Given the description of an element on the screen output the (x, y) to click on. 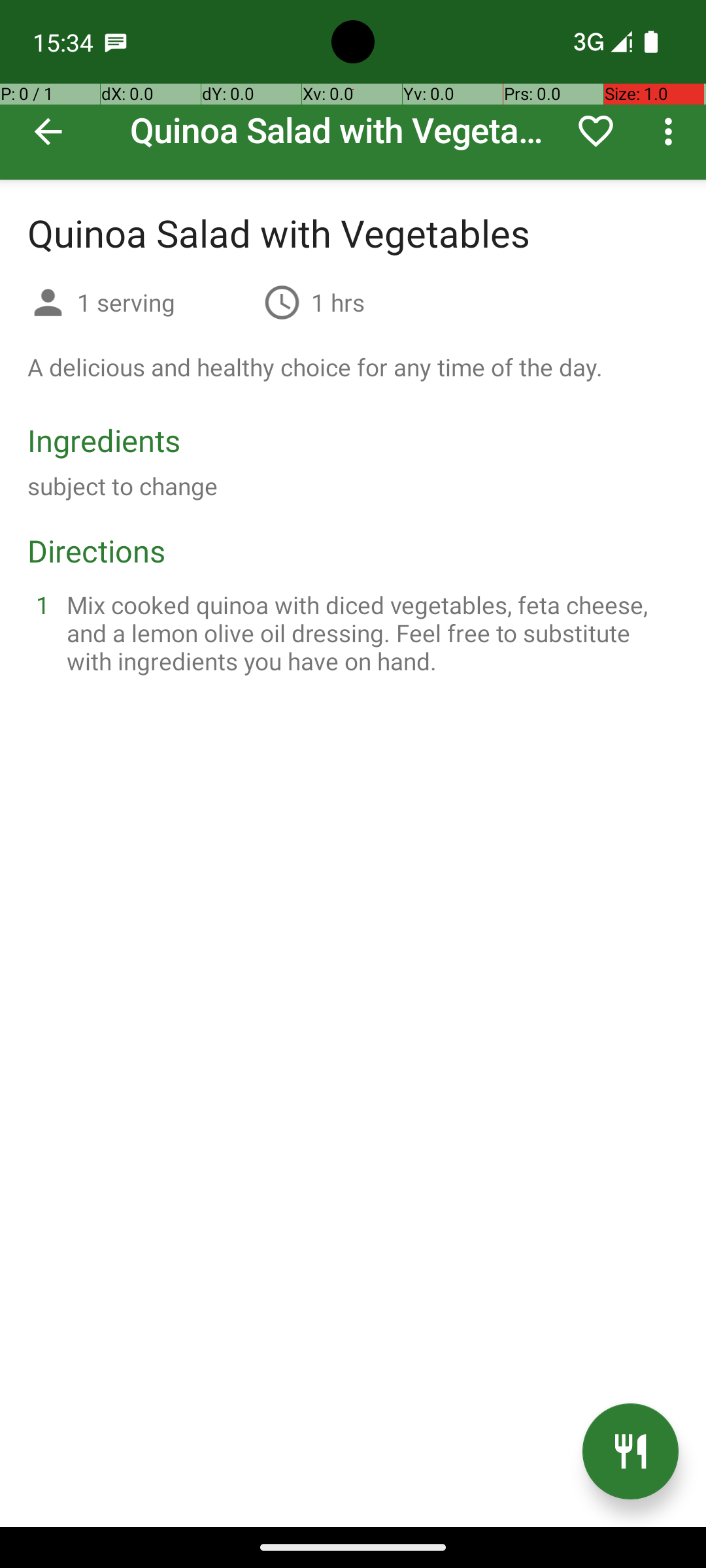
Quinoa Salad with Vegetables Element type: android.widget.FrameLayout (353, 89)
1 hrs Element type: android.widget.TextView (337, 301)
subject to change Element type: android.widget.TextView (122, 485)
Mix cooked quinoa with diced vegetables, feta cheese, and a lemon olive oil dressing. Feel free to substitute with ingredients you have on hand. Element type: android.widget.TextView (368, 632)
